Given the description of an element on the screen output the (x, y) to click on. 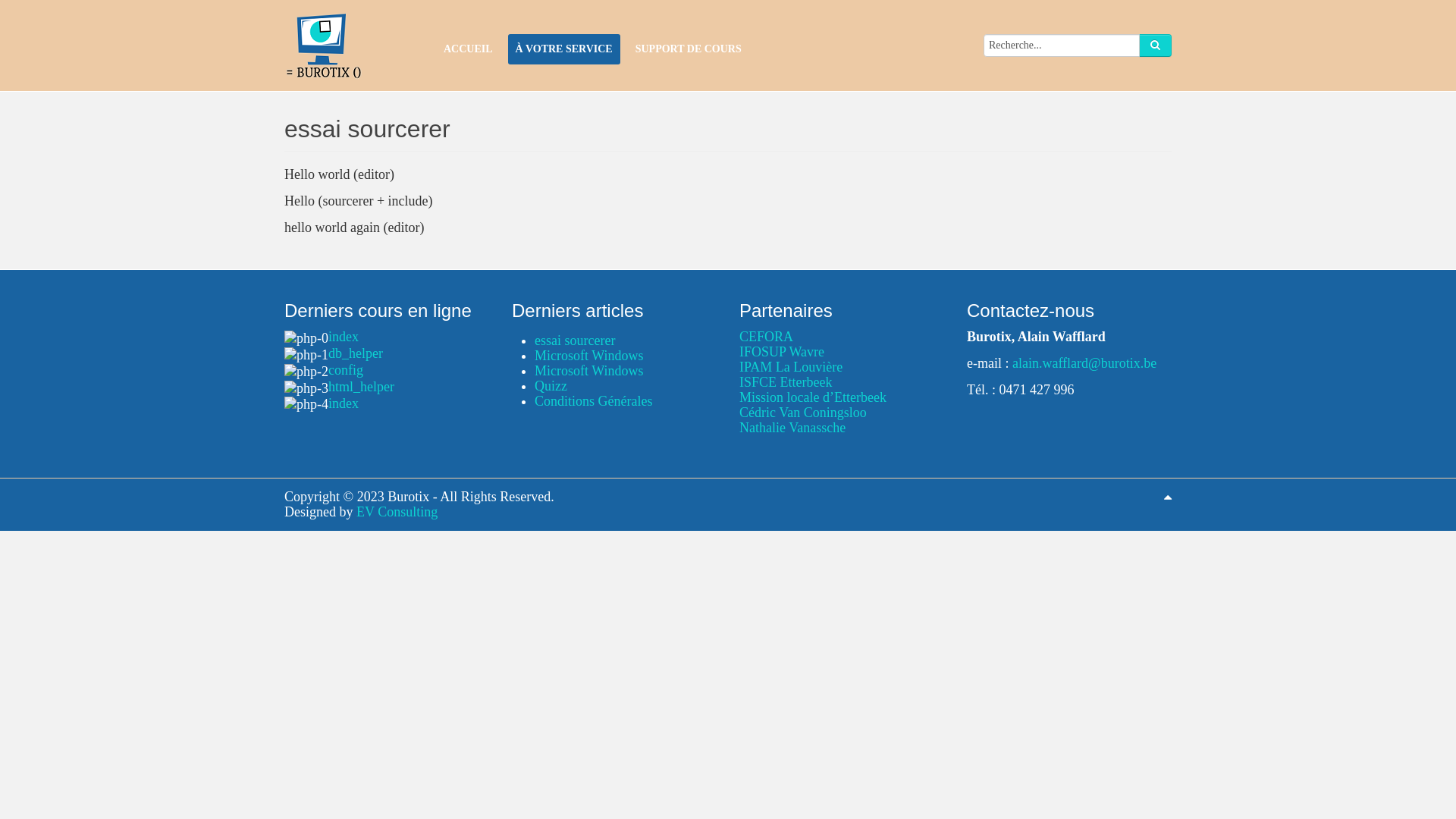
index Element type: text (343, 336)
html_helper Element type: text (361, 386)
Microsoft Windows Element type: text (588, 370)
db_helper Element type: text (355, 352)
essai sourcerer Element type: text (574, 340)
ACCUEIL Element type: text (468, 49)
EV Consulting Element type: text (394, 511)
alain.wafflard@burotix.be Element type: text (1082, 362)
index Element type: text (343, 403)
IFOSUP Wavre Element type: text (781, 351)
Goto Top Element type: hover (1167, 496)
Microsoft Windows Element type: text (588, 355)
SUPPORT DE COURS Element type: text (688, 49)
ISFCE Etterbeek Element type: text (785, 381)
Nathalie Vanassche Element type: text (792, 427)
config Element type: text (345, 369)
CEFORA Element type: text (766, 336)
Quizz Element type: text (550, 385)
